Given the description of an element on the screen output the (x, y) to click on. 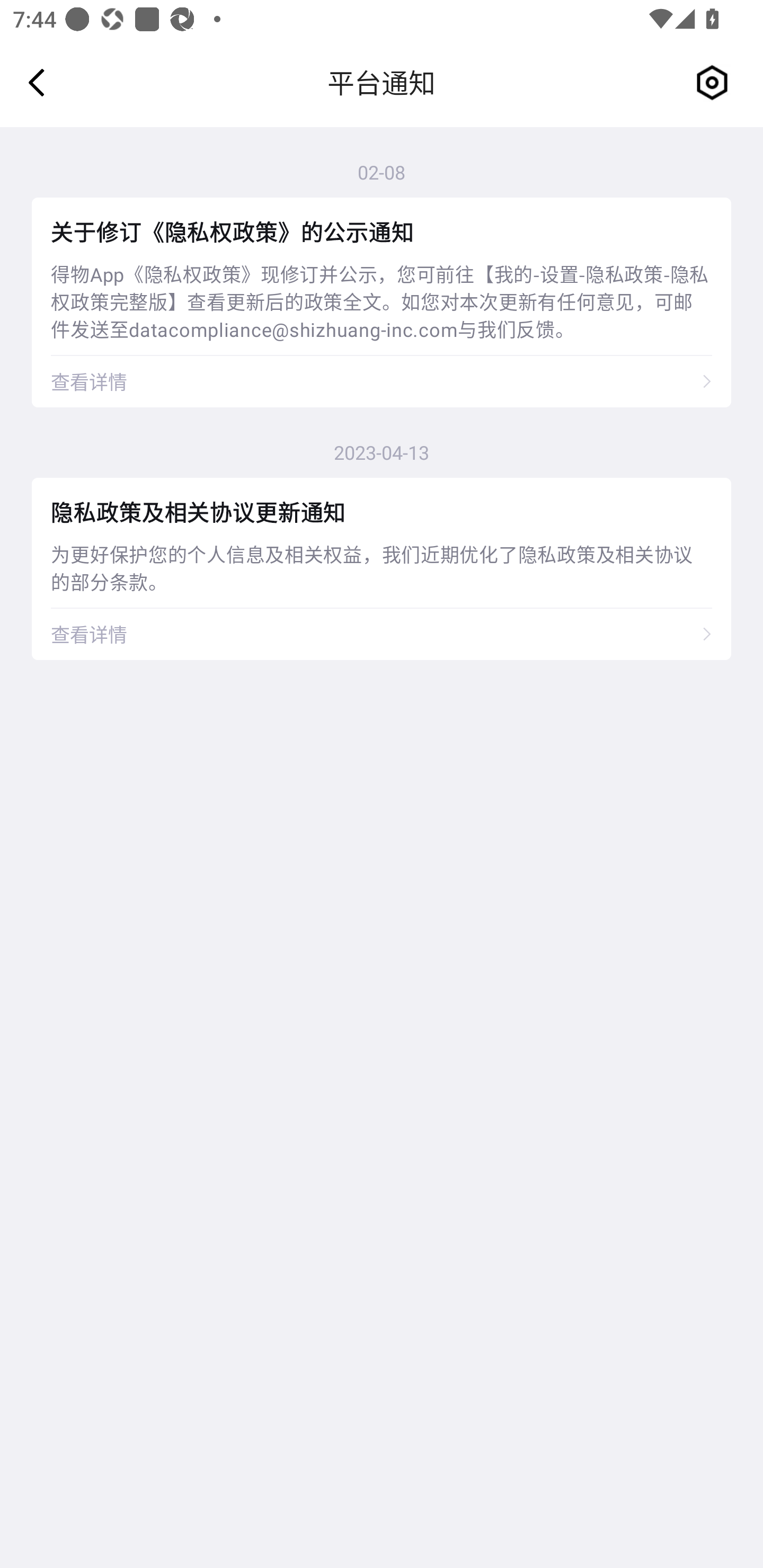
Navigate up (36, 82)
